Given the description of an element on the screen output the (x, y) to click on. 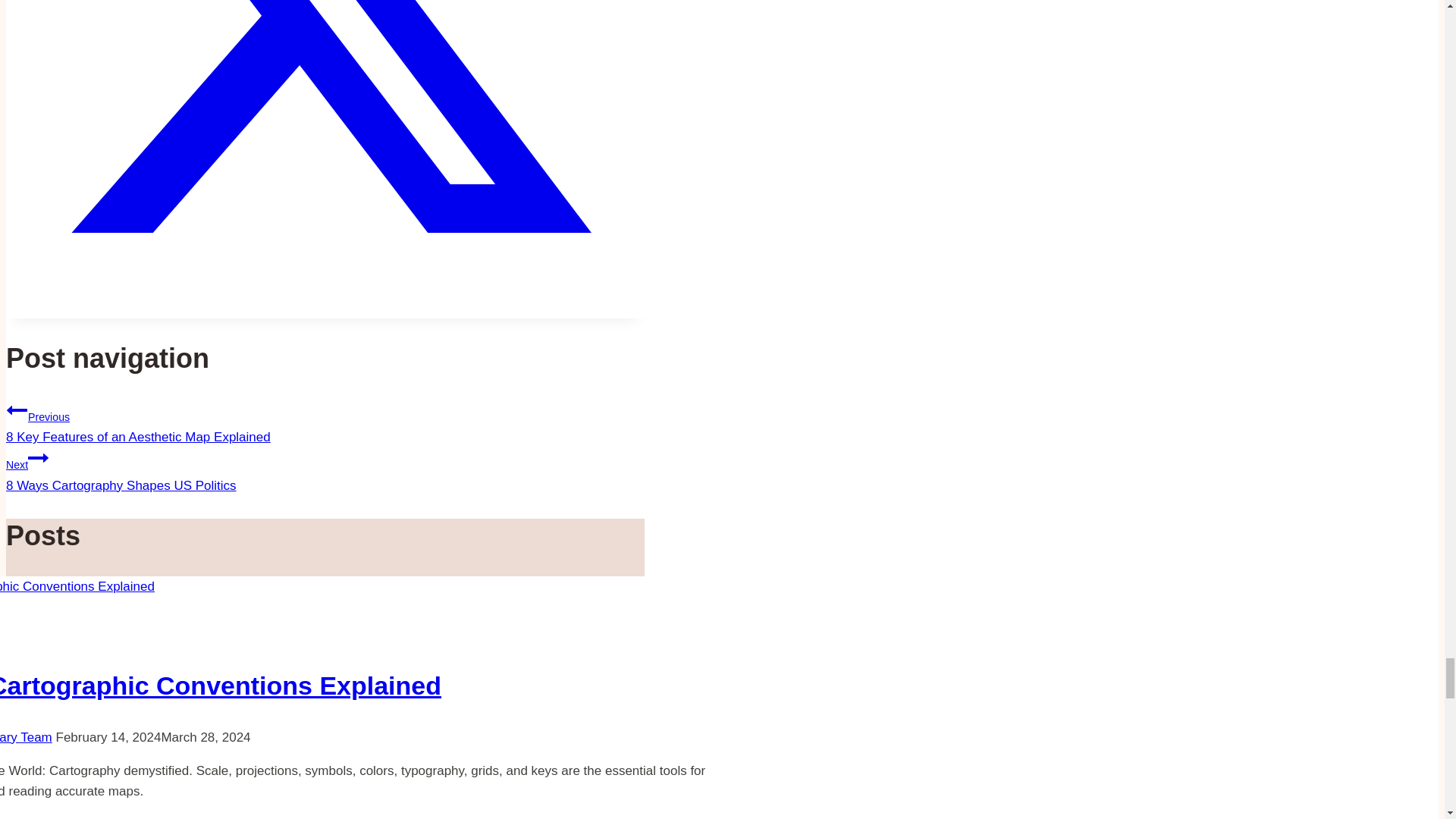
Continue (37, 457)
Key Cartographic Conventions Explained (220, 685)
Previous (325, 469)
Map Library Team (16, 409)
